Given the description of an element on the screen output the (x, y) to click on. 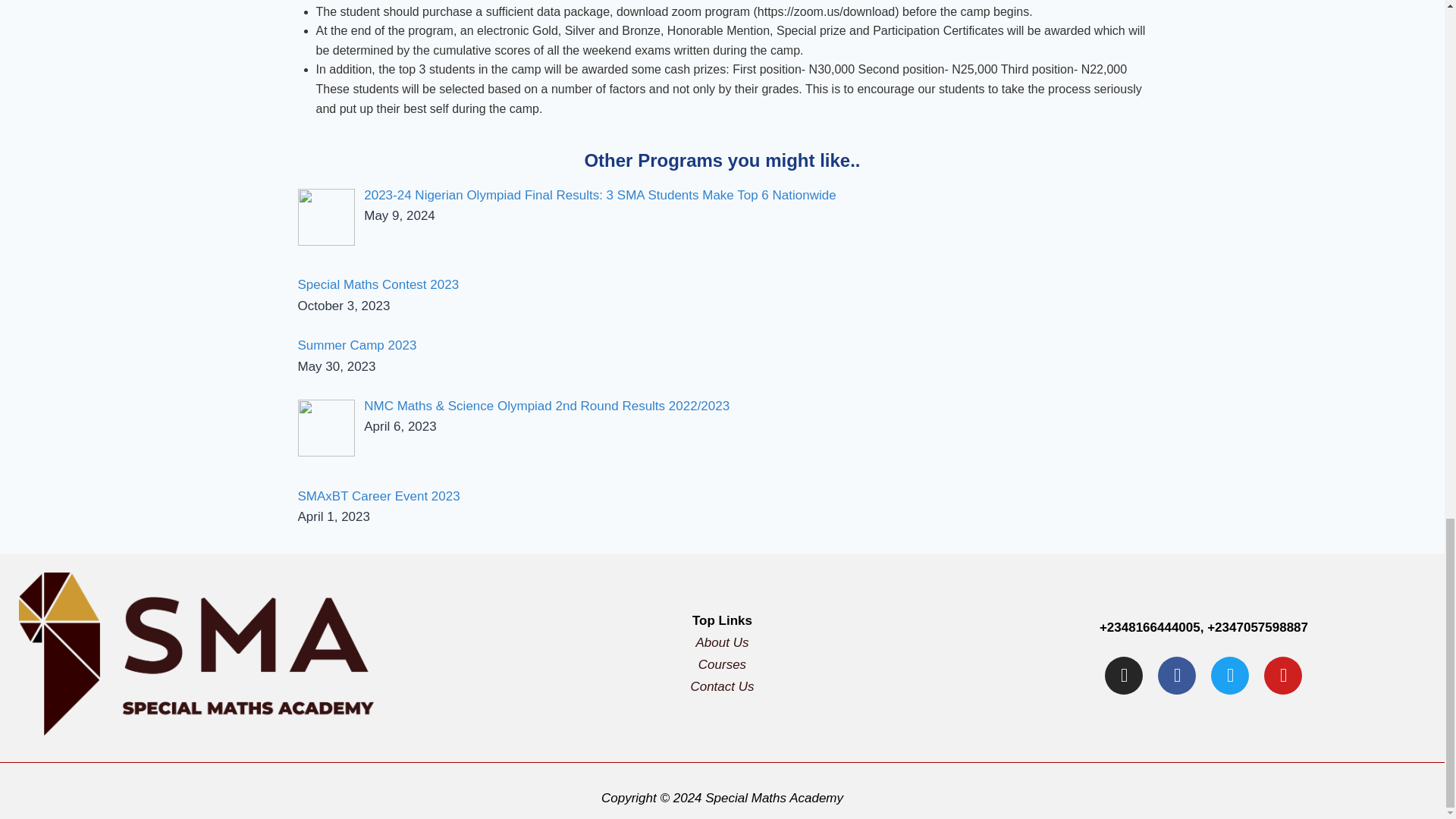
Summer Camp 2023 (356, 345)
Contact Us (722, 686)
Courses (721, 664)
Special Maths Contest 2023 (377, 284)
SMAxBT Career Event 2023 (378, 495)
About Us (722, 642)
